Given the description of an element on the screen output the (x, y) to click on. 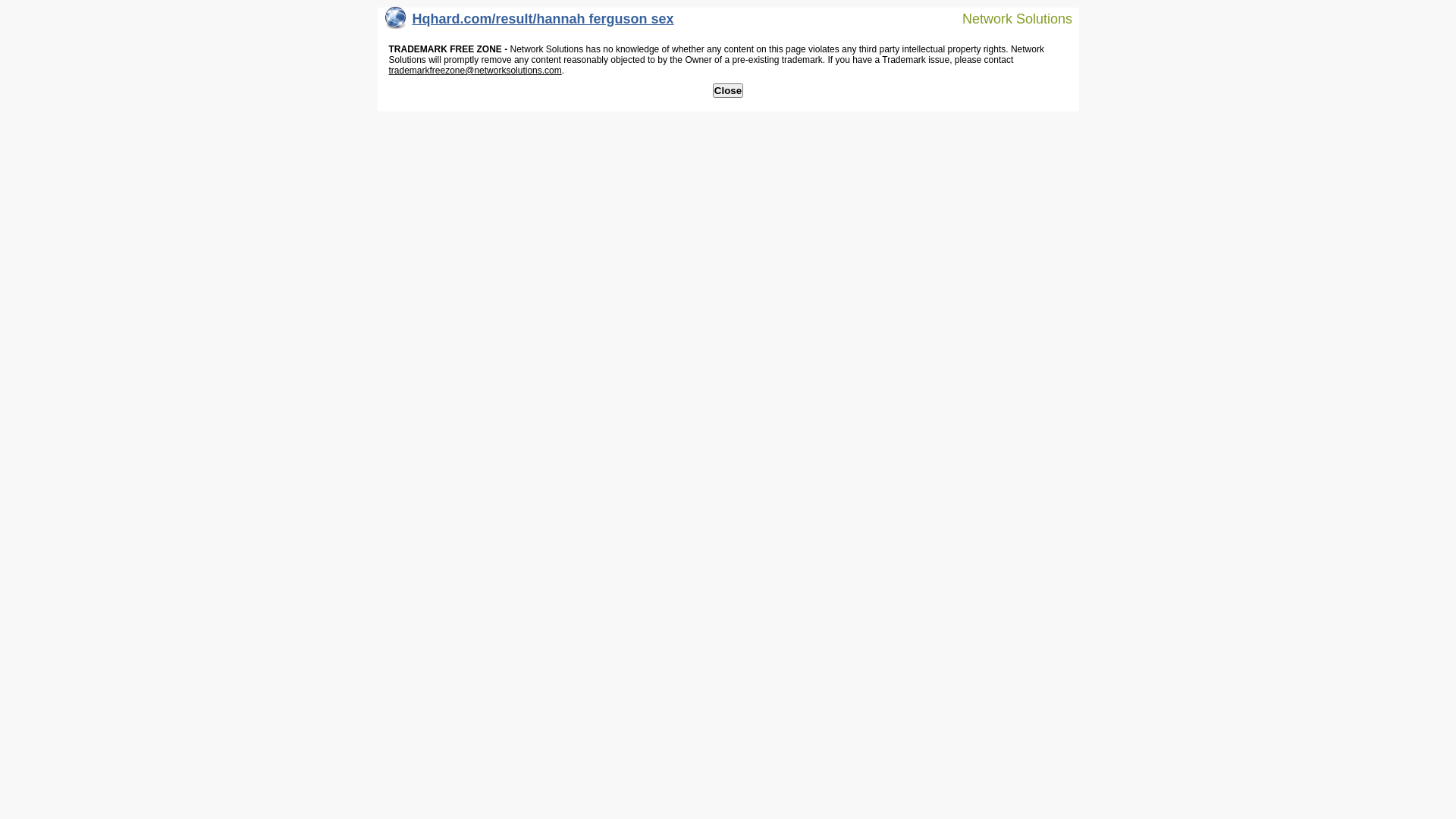
Hqhard.com/result/hannah ferguson sex Element type: text (529, 21)
Close Element type: text (727, 90)
Network Solutions Element type: text (1007, 17)
trademarkfreezone@networksolutions.com Element type: text (474, 70)
